Given the description of an element on the screen output the (x, y) to click on. 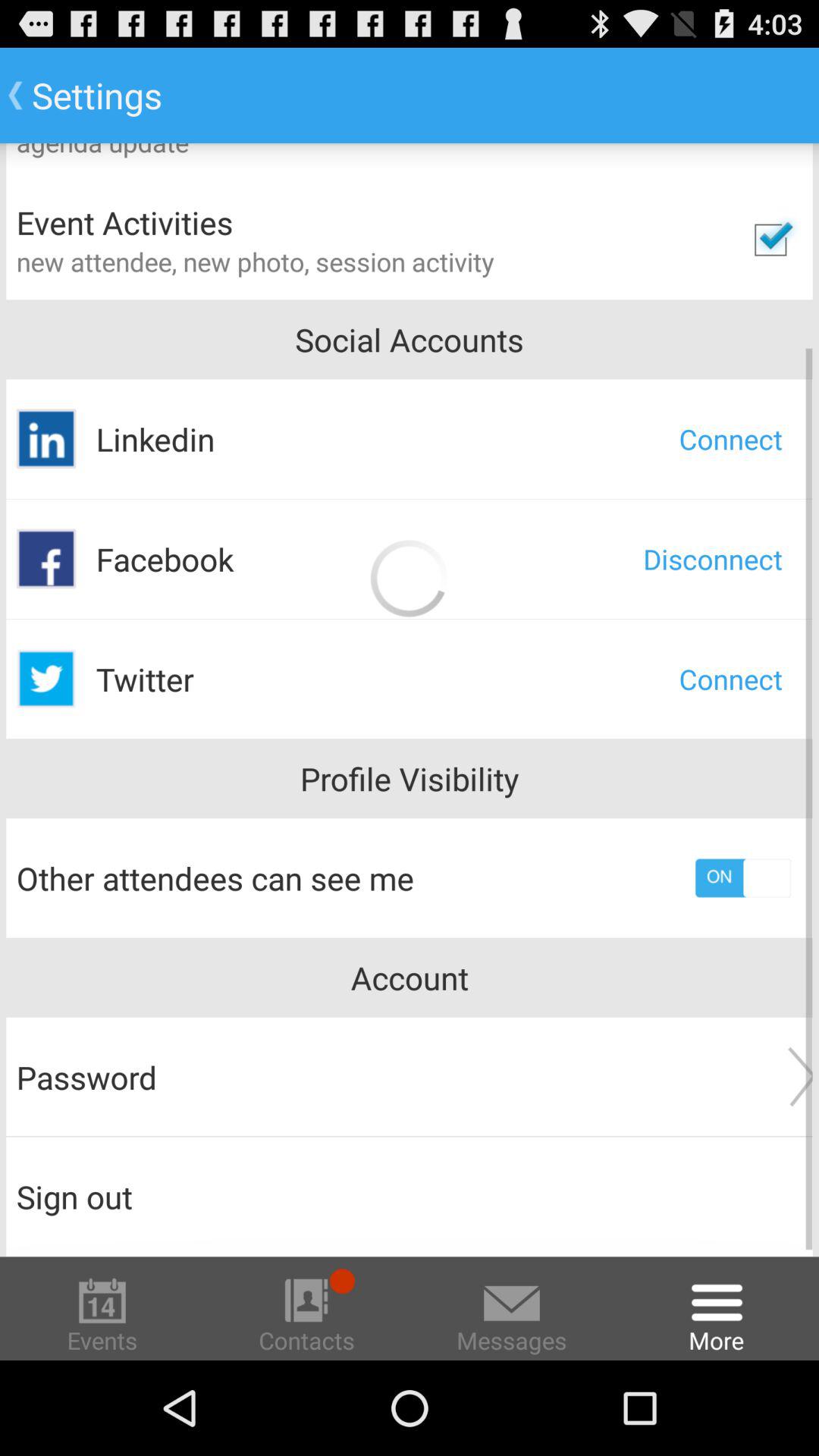
check to see event activities (770, 239)
